Given the description of an element on the screen output the (x, y) to click on. 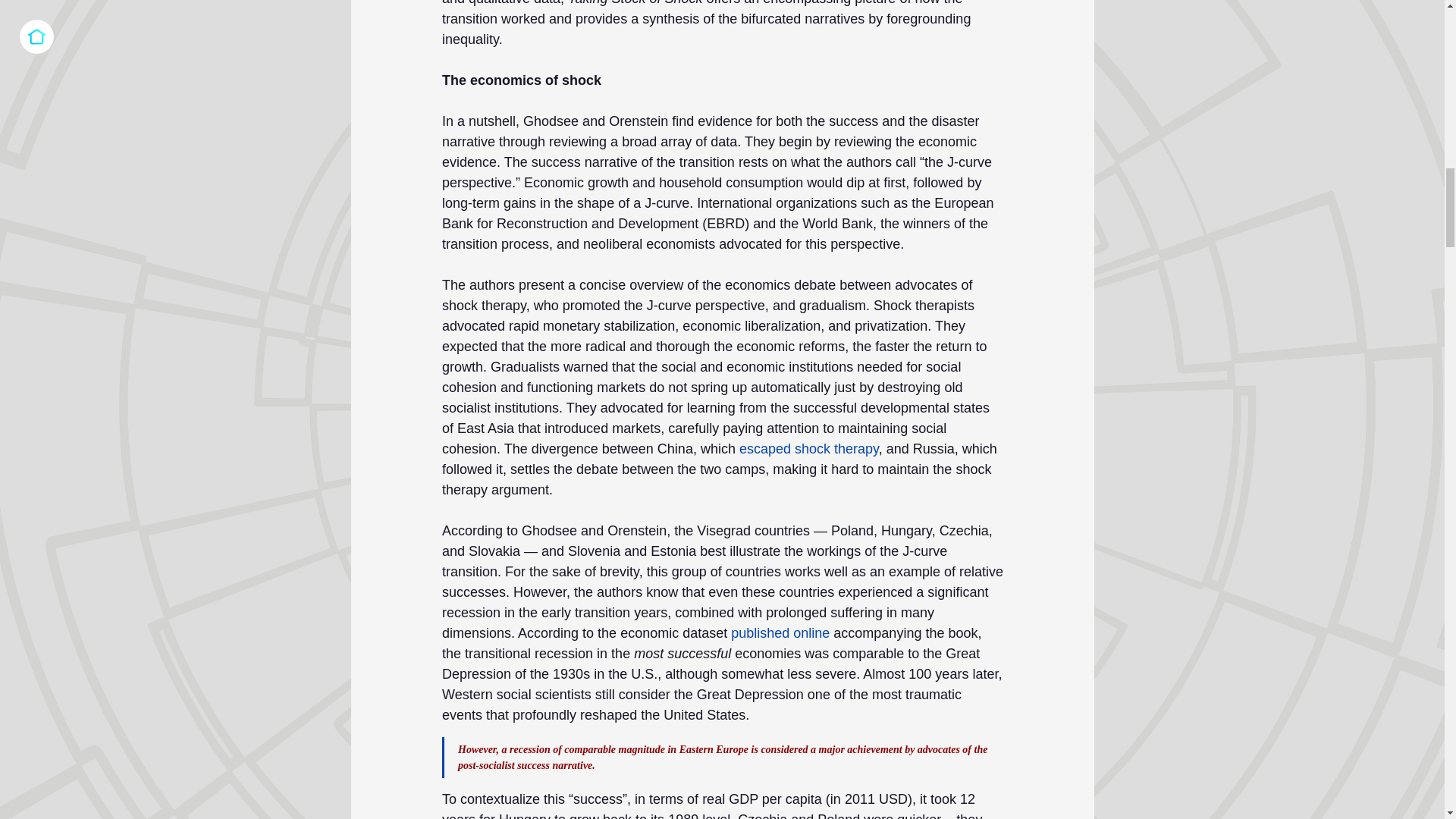
published online (779, 632)
escaped shock therapy (807, 448)
